Given the description of an element on the screen output the (x, y) to click on. 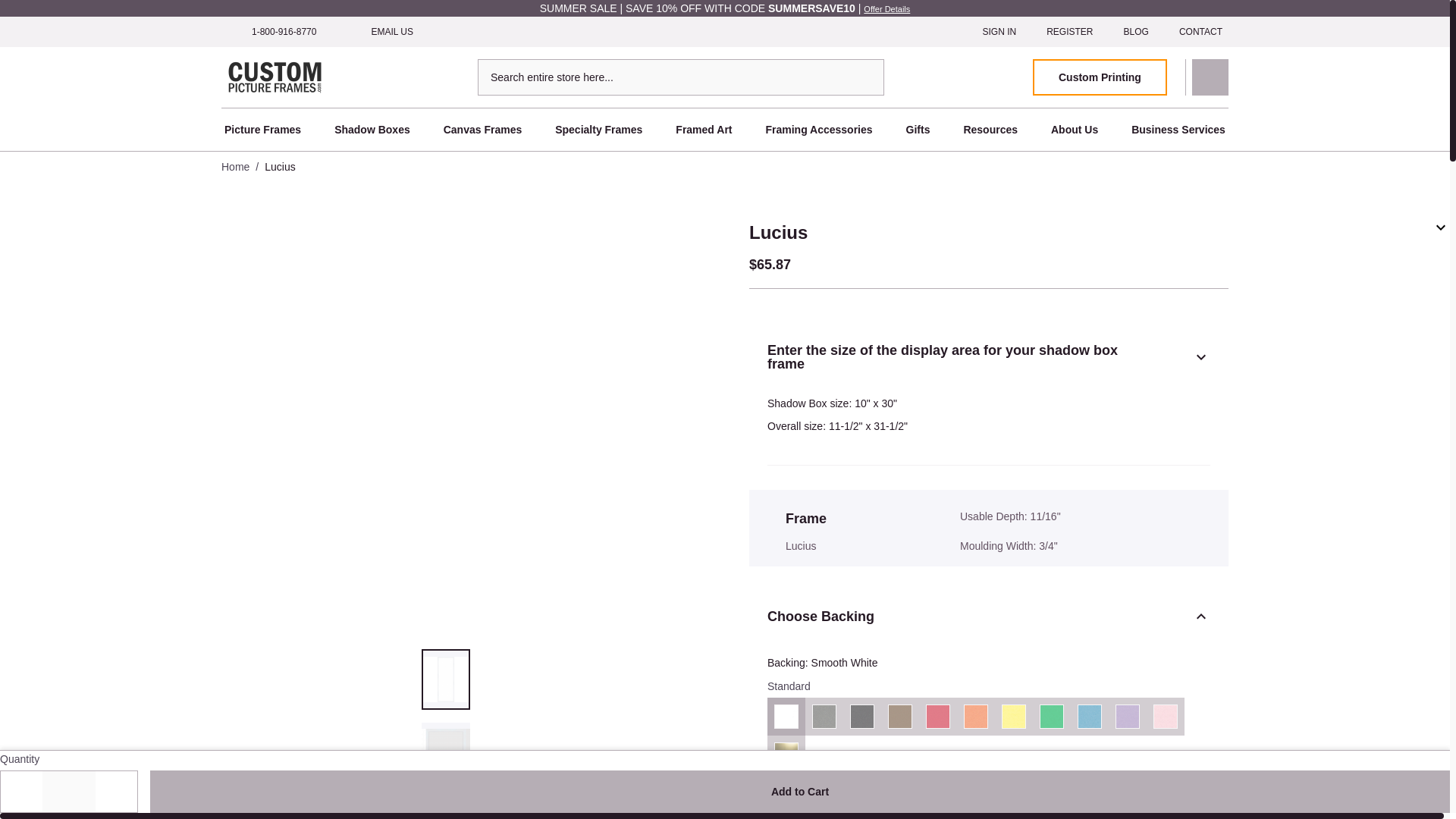
Brown (899, 716)
Blue (1089, 716)
Grey (824, 716)
Skip to content (35, 8)
Green (1051, 716)
Purple (1127, 716)
1-800-916-8770 (271, 31)
Pink (1166, 716)
REGISTER (1070, 31)
Yellow (1013, 806)
EMAIL US (379, 31)
White (786, 806)
Red (937, 806)
Brown (899, 806)
BLOG (1136, 31)
